Given the description of an element on the screen output the (x, y) to click on. 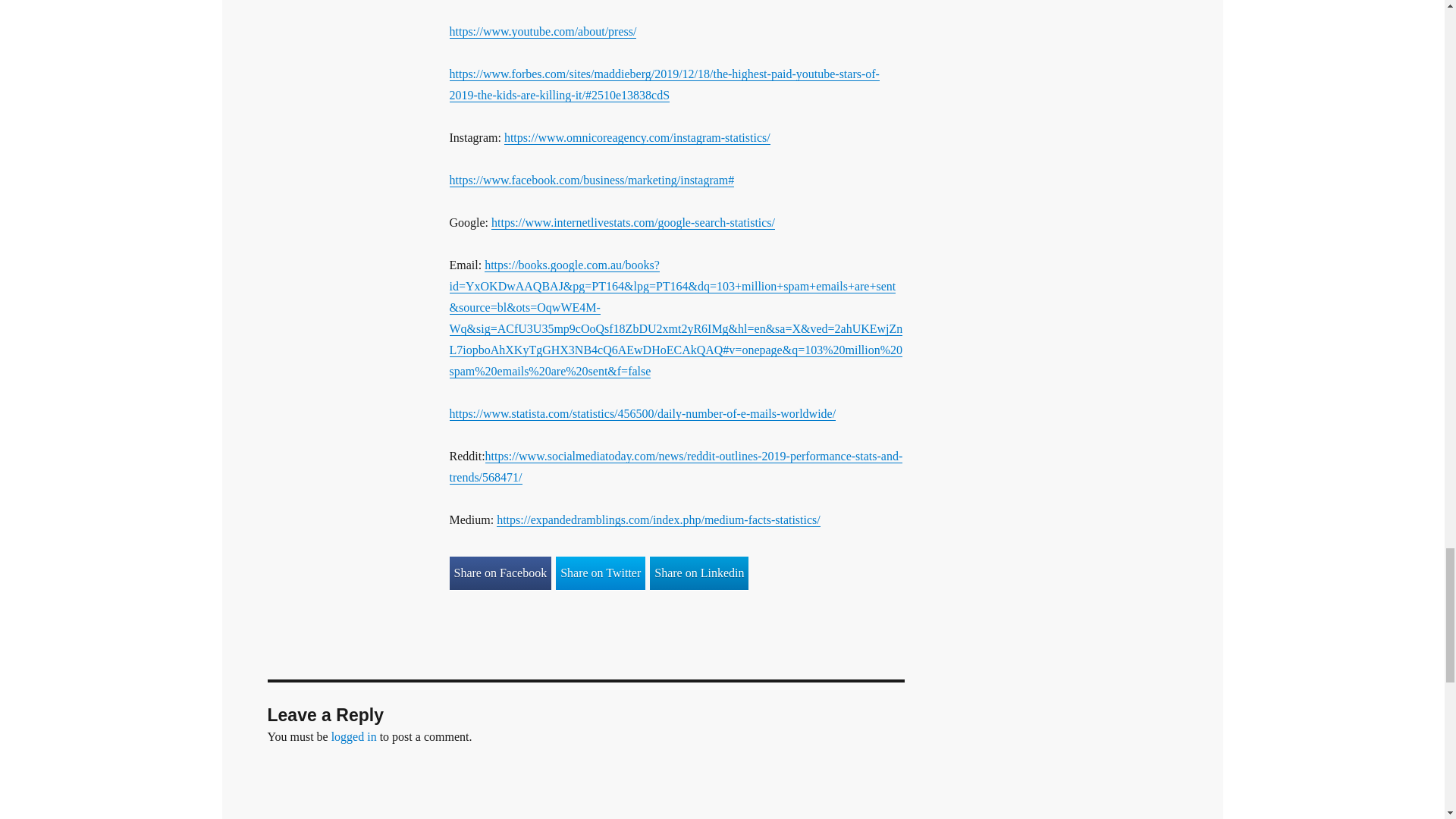
Share on Facebook (499, 572)
Share on Twitter (600, 572)
Share on Linkedin (698, 572)
